Given the description of an element on the screen output the (x, y) to click on. 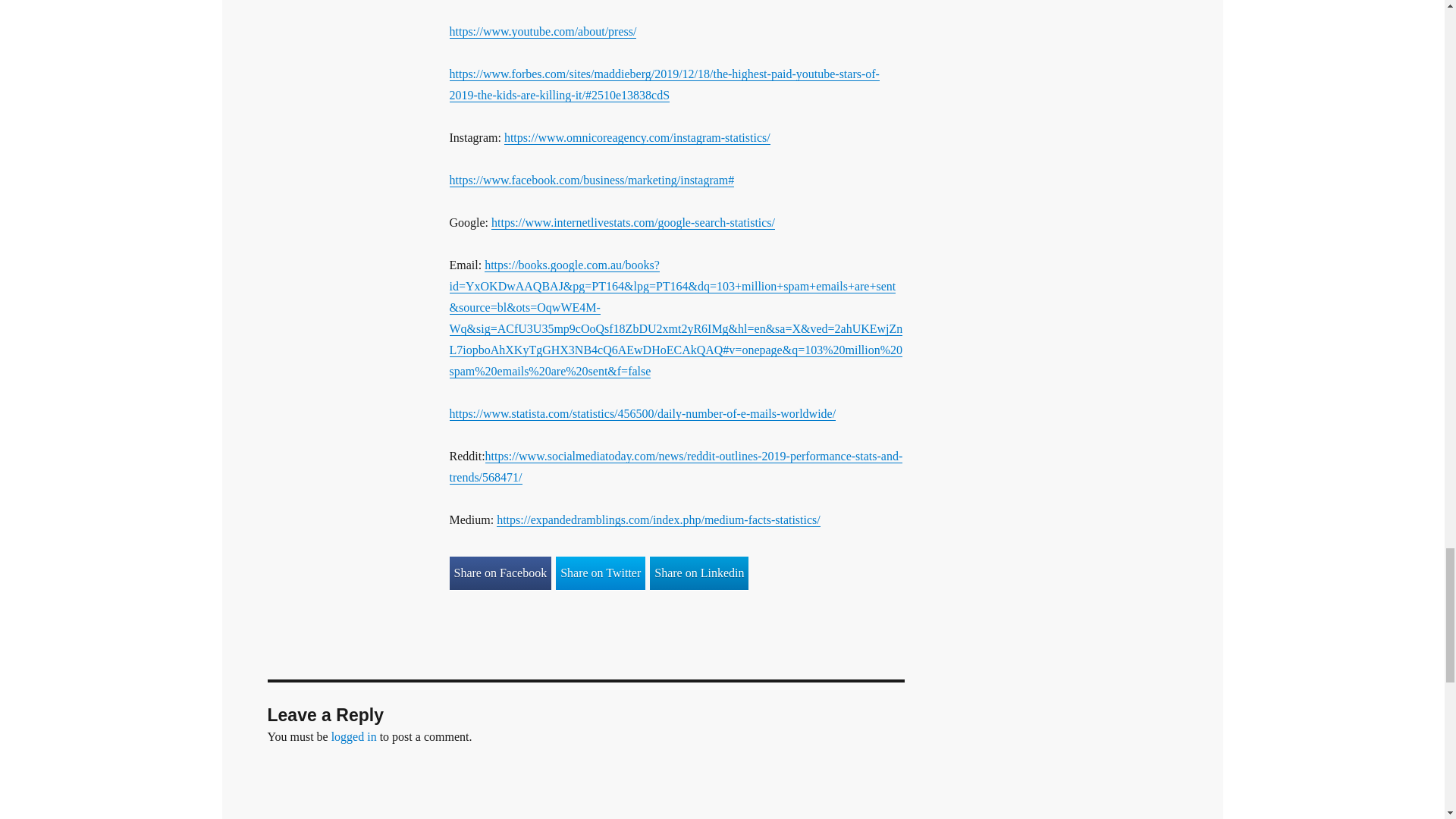
Share on Facebook (499, 572)
Share on Twitter (600, 572)
Share on Linkedin (698, 572)
